Given the description of an element on the screen output the (x, y) to click on. 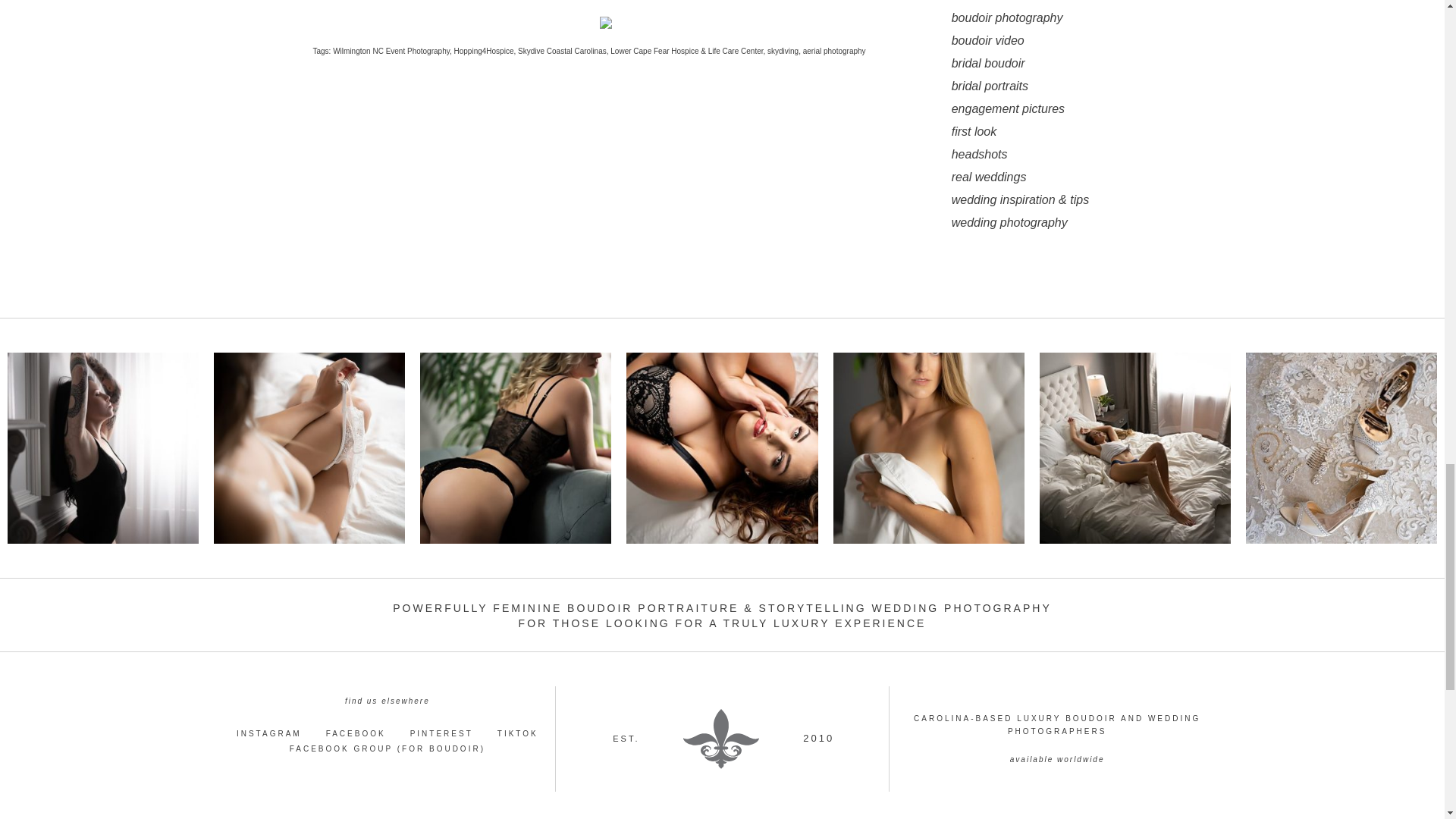
wilmington-boudoir-pictures-022 (515, 447)
wilmington-north-carolina-boudoir-photographer-10 (102, 447)
north-carolina-implied-boudoir-photography-004 (927, 447)
wilmington-north-carolina-boudoir-photographer-034.jpg (309, 447)
wilmington-north-carolina-boudoir-photographer-012 (1134, 447)
wilmington-north-carolina-boudoir-photographer-035 (721, 447)
